Given the description of an element on the screen output the (x, y) to click on. 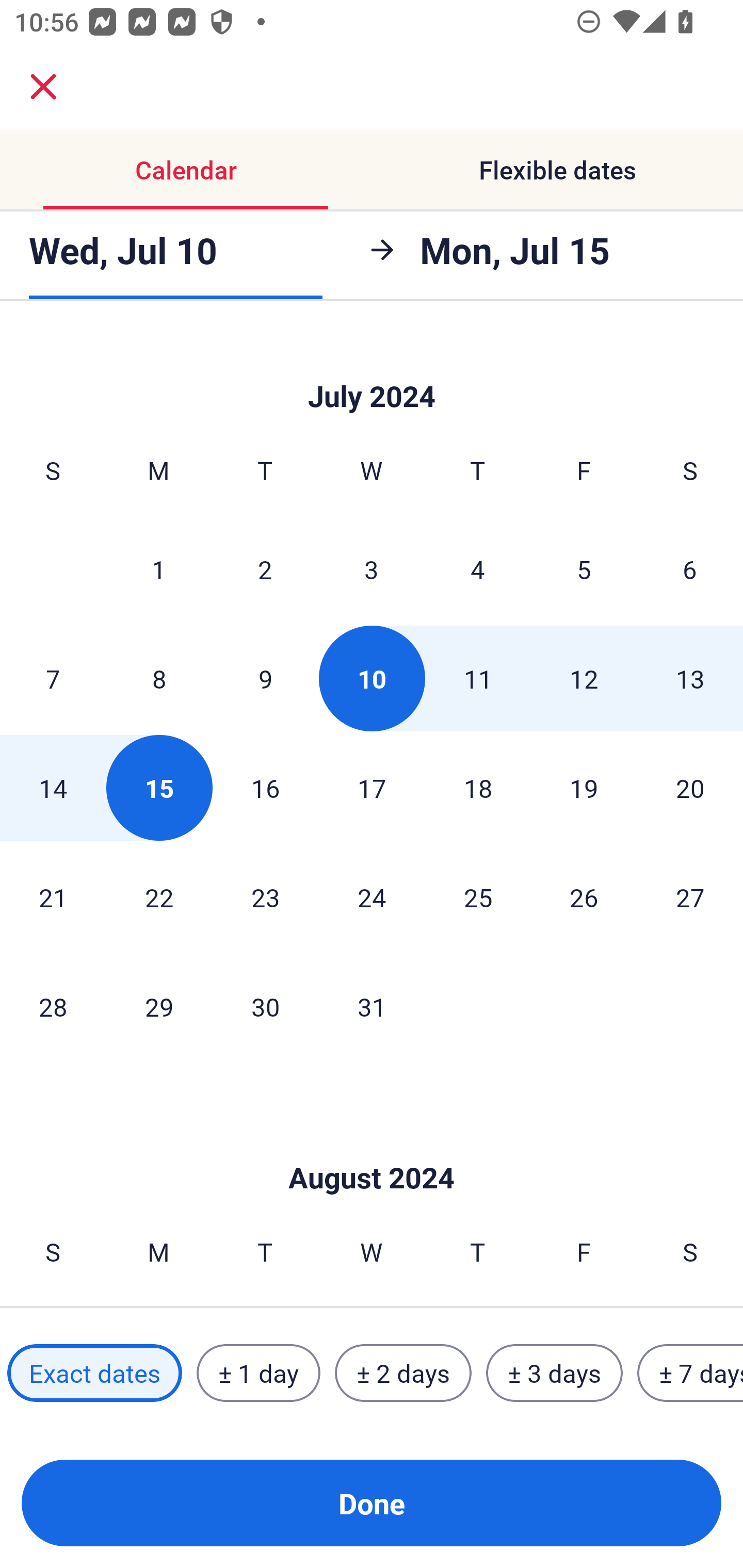
close. (43, 86)
Flexible dates (557, 170)
Skip to Done (371, 369)
1 Monday, July 1, 2024 (158, 568)
2 Tuesday, July 2, 2024 (264, 568)
3 Wednesday, July 3, 2024 (371, 568)
4 Thursday, July 4, 2024 (477, 568)
5 Friday, July 5, 2024 (583, 568)
6 Saturday, July 6, 2024 (689, 568)
7 Sunday, July 7, 2024 (53, 677)
8 Monday, July 8, 2024 (159, 677)
9 Tuesday, July 9, 2024 (265, 677)
16 Tuesday, July 16, 2024 (265, 787)
17 Wednesday, July 17, 2024 (371, 787)
18 Thursday, July 18, 2024 (477, 787)
19 Friday, July 19, 2024 (584, 787)
20 Saturday, July 20, 2024 (690, 787)
21 Sunday, July 21, 2024 (53, 896)
22 Monday, July 22, 2024 (159, 896)
23 Tuesday, July 23, 2024 (265, 896)
